Given the description of an element on the screen output the (x, y) to click on. 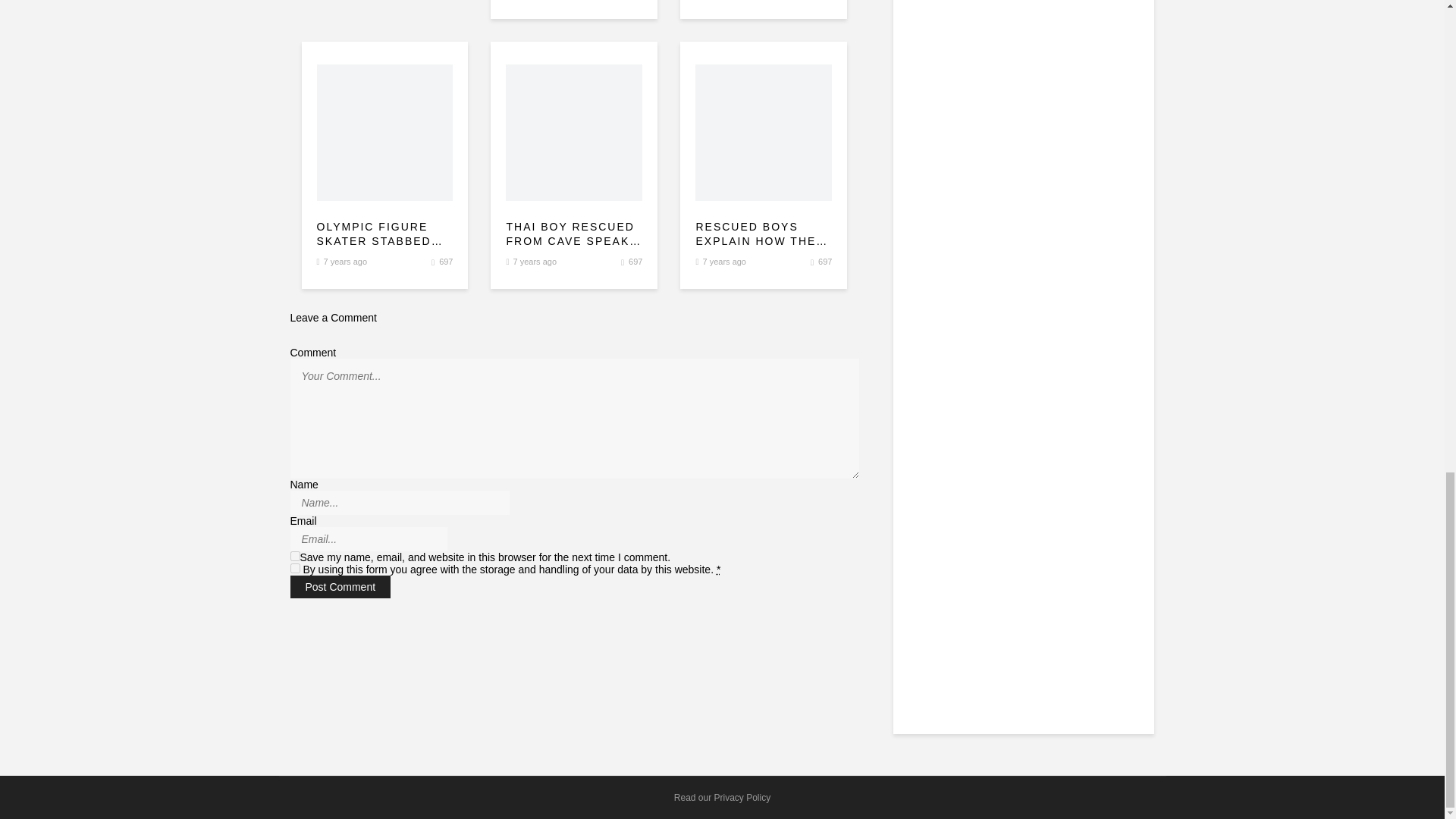
Post Comment (339, 586)
yes (294, 556)
1 (294, 568)
